Given the description of an element on the screen output the (x, y) to click on. 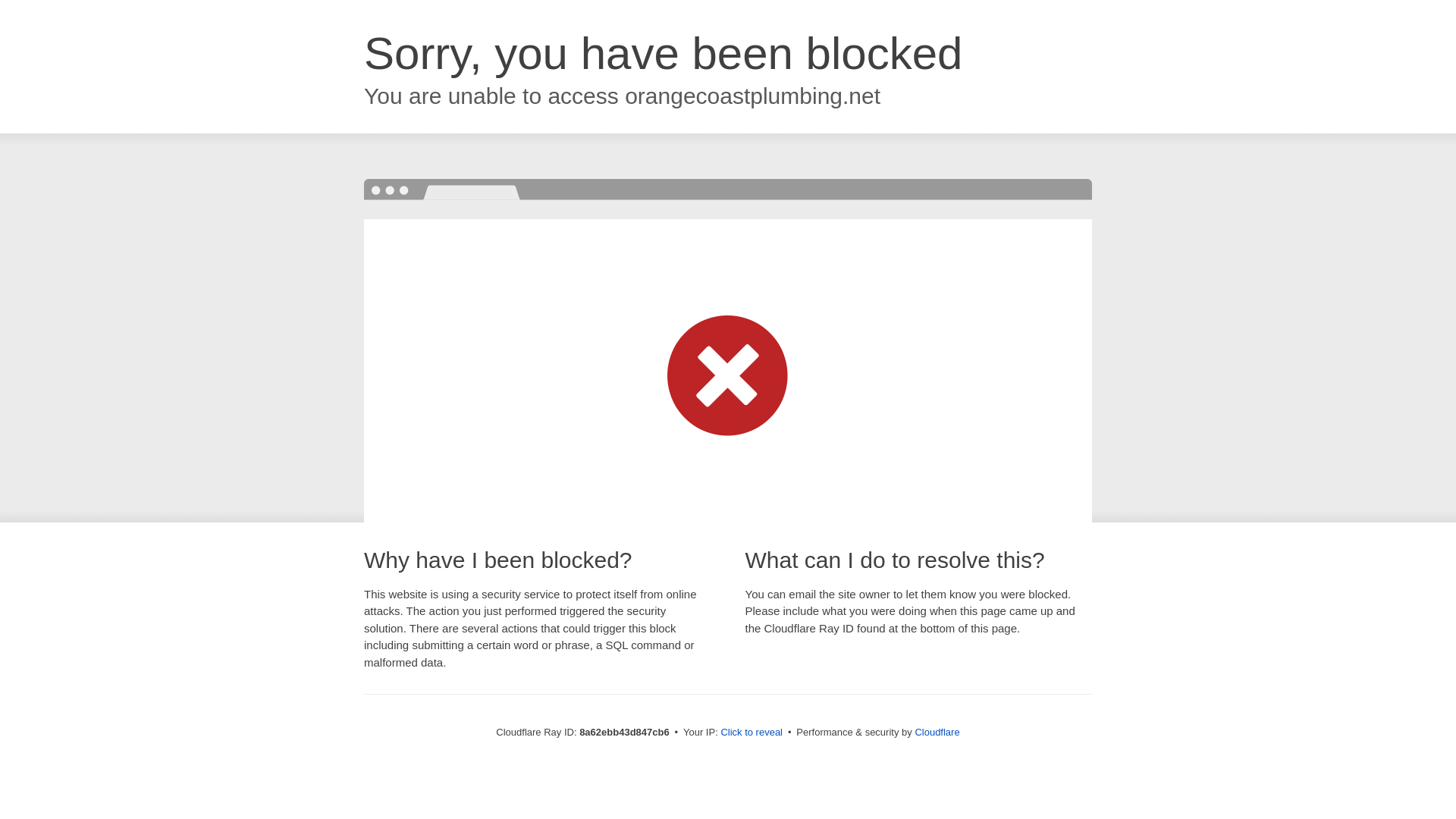
Cloudflare (936, 731)
Click to reveal (751, 732)
